Given the description of an element on the screen output the (x, y) to click on. 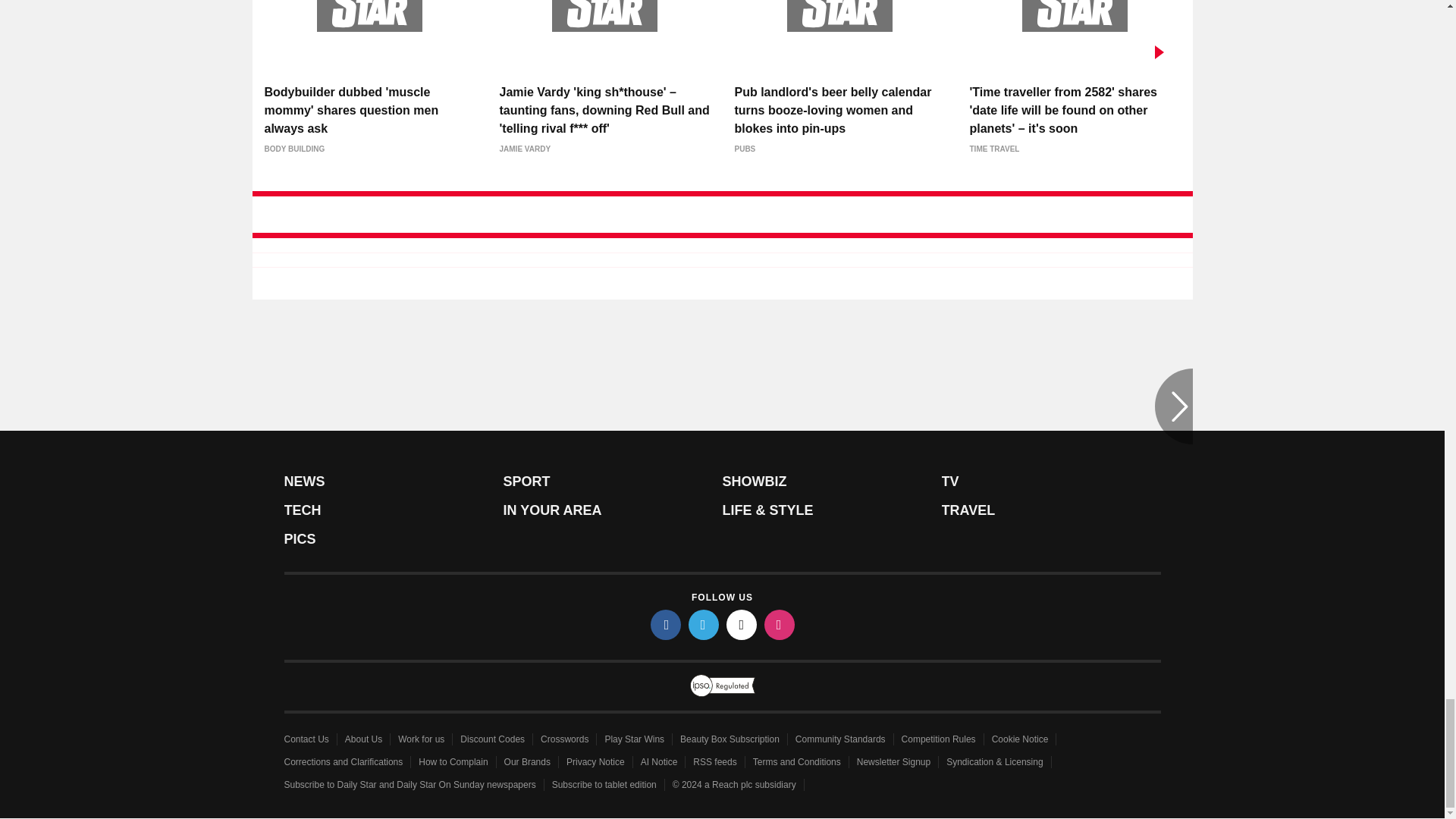
tiktok (741, 624)
twitter (703, 624)
facebook (665, 624)
instagram (779, 624)
